Given the description of an element on the screen output the (x, y) to click on. 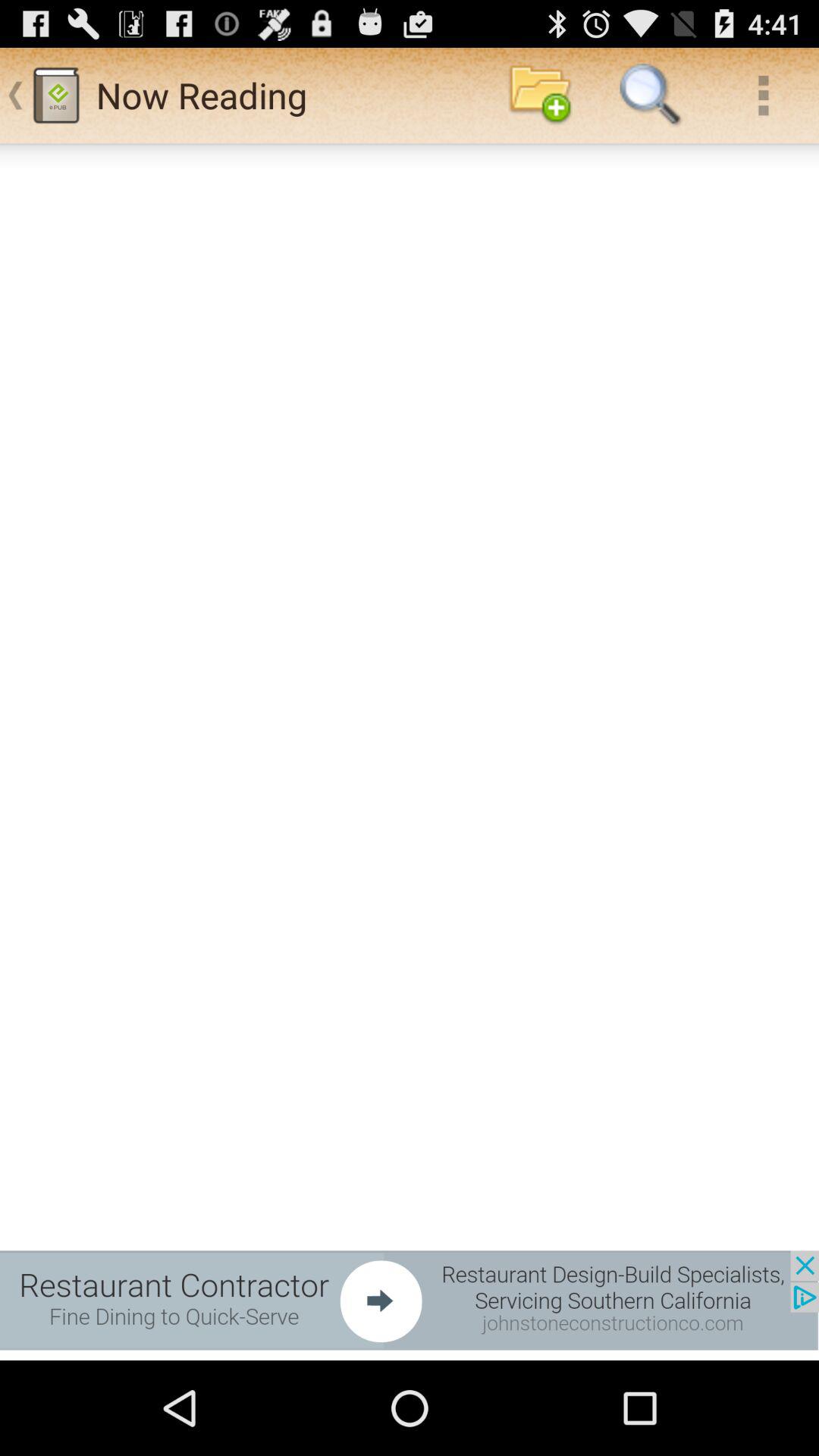
tap the icon at the center (409, 751)
